Given the description of an element on the screen output the (x, y) to click on. 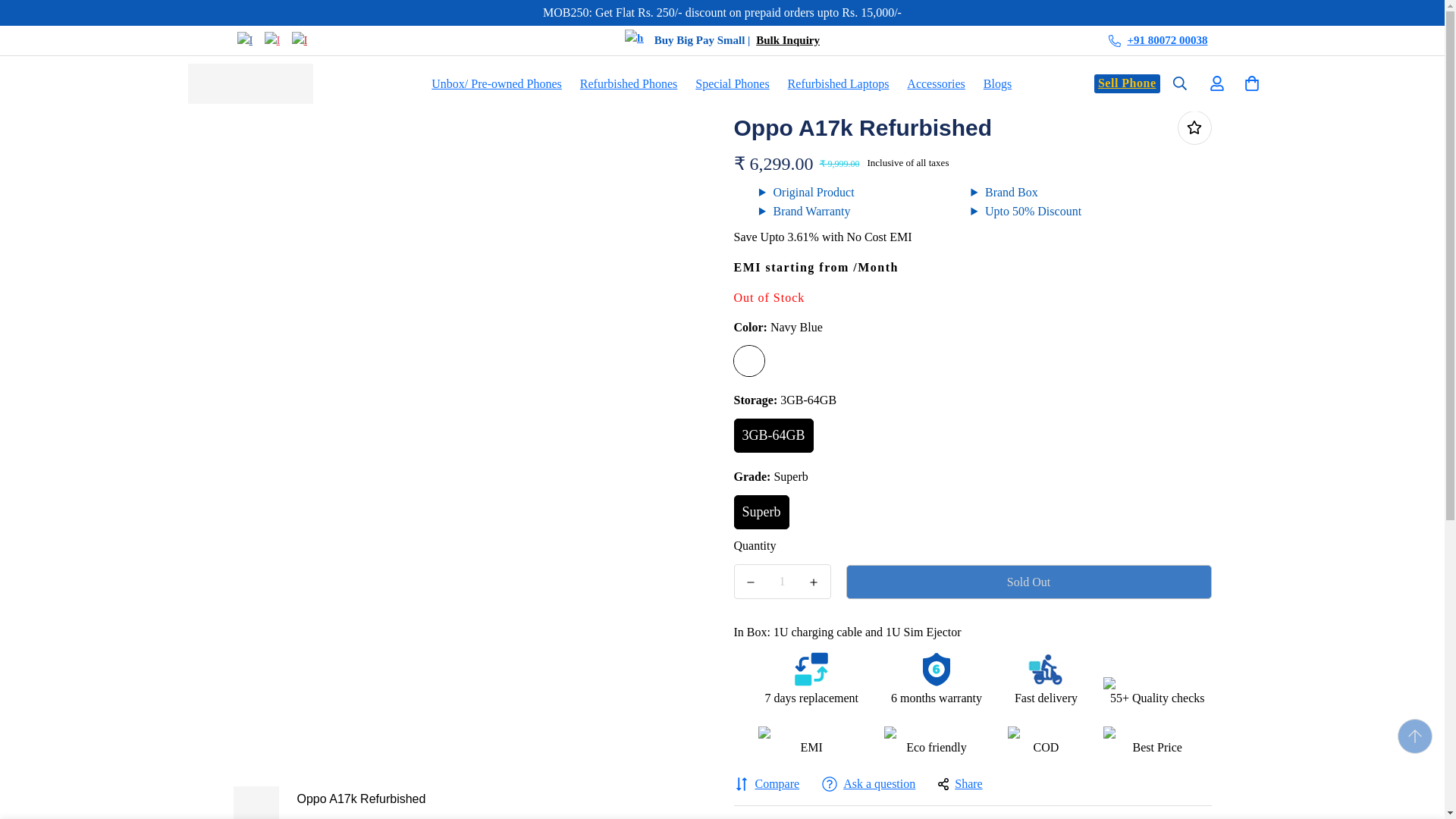
1 (782, 581)
Mobilegoo (250, 83)
Accessories (936, 83)
Refurbished Phones (627, 83)
Refurbished Laptops (838, 83)
Special Phones (731, 83)
Bulk Inquiry (787, 39)
